Given the description of an element on the screen output the (x, y) to click on. 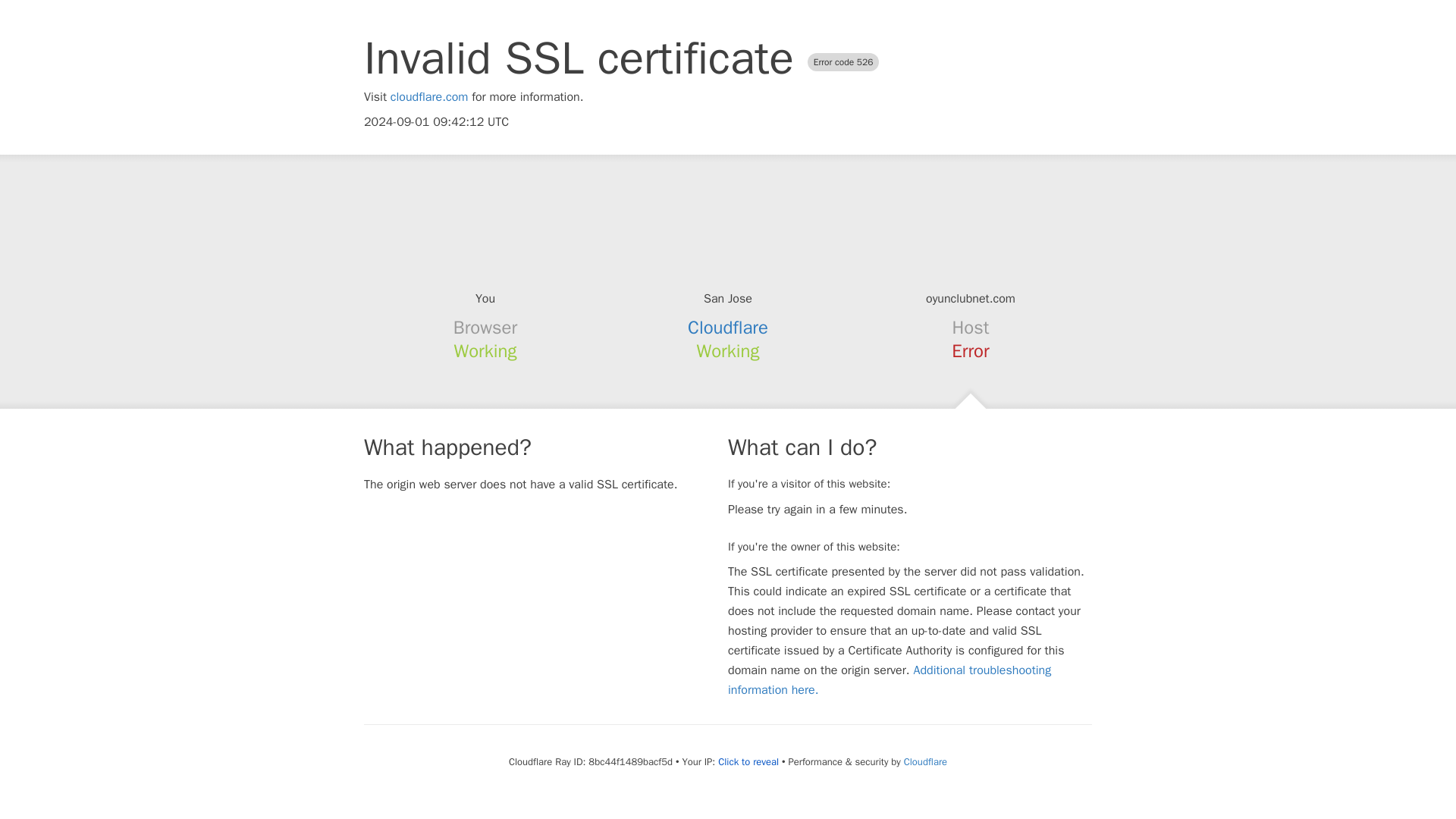
Cloudflare (925, 761)
Cloudflare (727, 327)
Additional troubleshooting information here. (889, 679)
Click to reveal (747, 762)
cloudflare.com (429, 96)
